Given the description of an element on the screen output the (x, y) to click on. 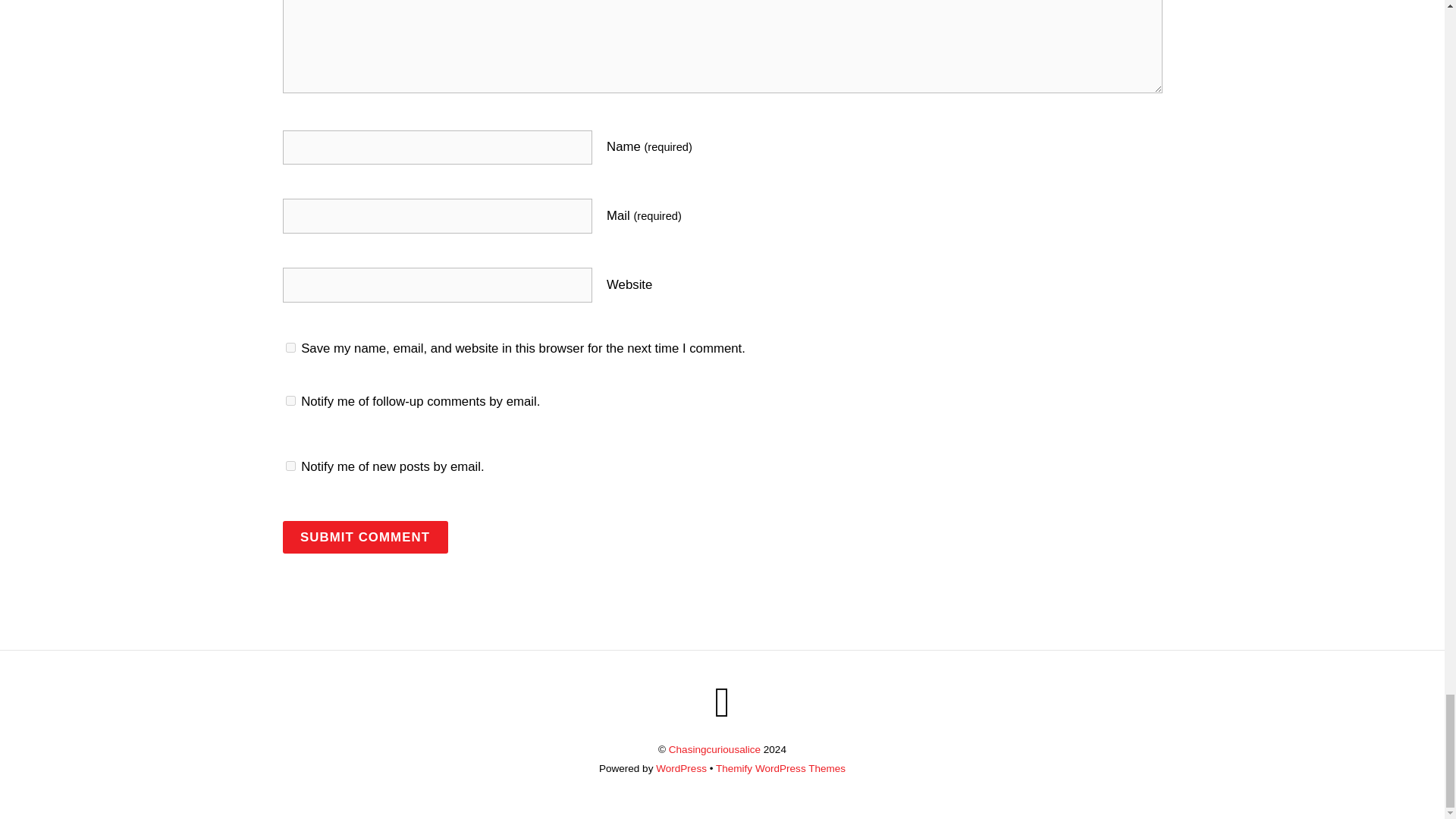
Chasingcuriousalice (714, 749)
subscribe (290, 465)
Submit Comment (364, 537)
subscribe (290, 400)
WordPress (681, 767)
Themify WordPress Themes (780, 767)
yes (290, 347)
Submit Comment (364, 537)
